Given the description of an element on the screen output the (x, y) to click on. 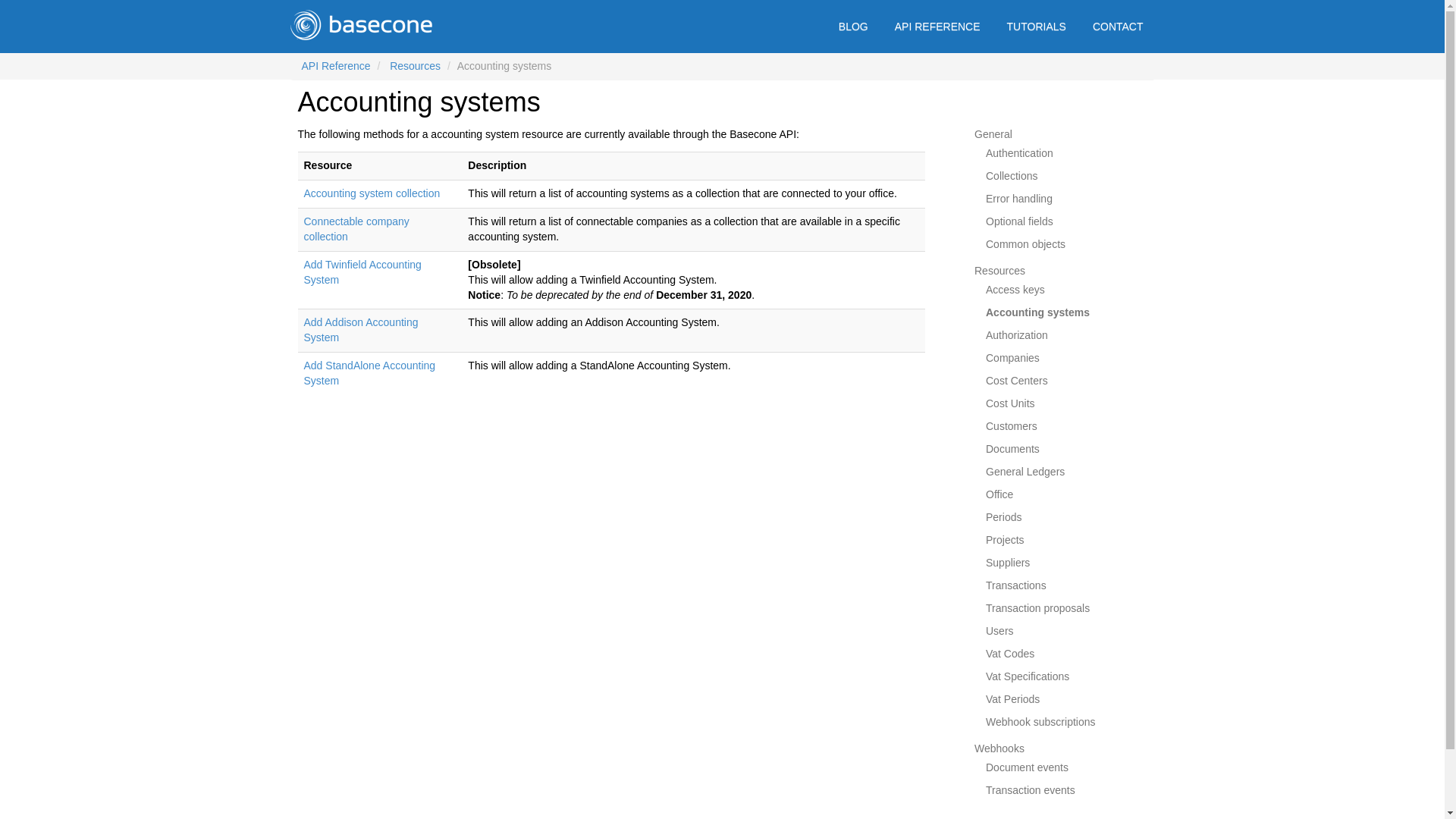
Transactions (1015, 585)
General Ledgers (1024, 471)
Vat Periods (1012, 698)
Add StandAlone Accounting System (368, 372)
Resources (999, 270)
Collections (1010, 175)
Resources (415, 65)
Add Addison Accounting System (359, 329)
Projects (1005, 539)
Access keys (1015, 289)
API REFERENCE (937, 26)
Error handling (1018, 198)
Connectable company collection (355, 228)
General (992, 133)
Companies (1012, 357)
